Given the description of an element on the screen output the (x, y) to click on. 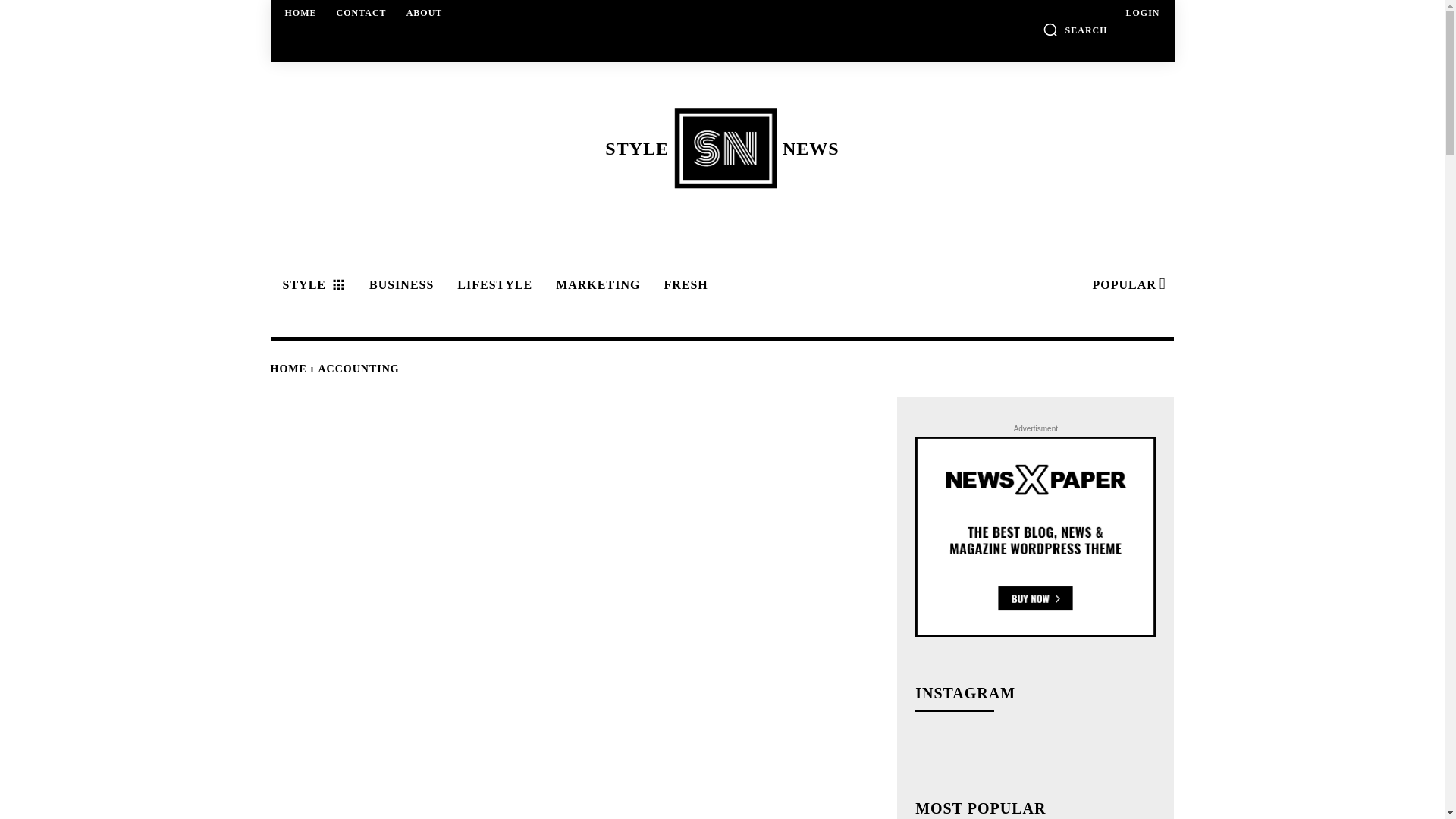
STYLE (310, 285)
SEARCH (1075, 29)
POPULAR (721, 148)
MARKETING (1126, 285)
LOGIN (595, 285)
HOME (1141, 12)
ABOUT (301, 12)
CONTACT (423, 12)
LIFESTYLE (361, 12)
